Given the description of an element on the screen output the (x, y) to click on. 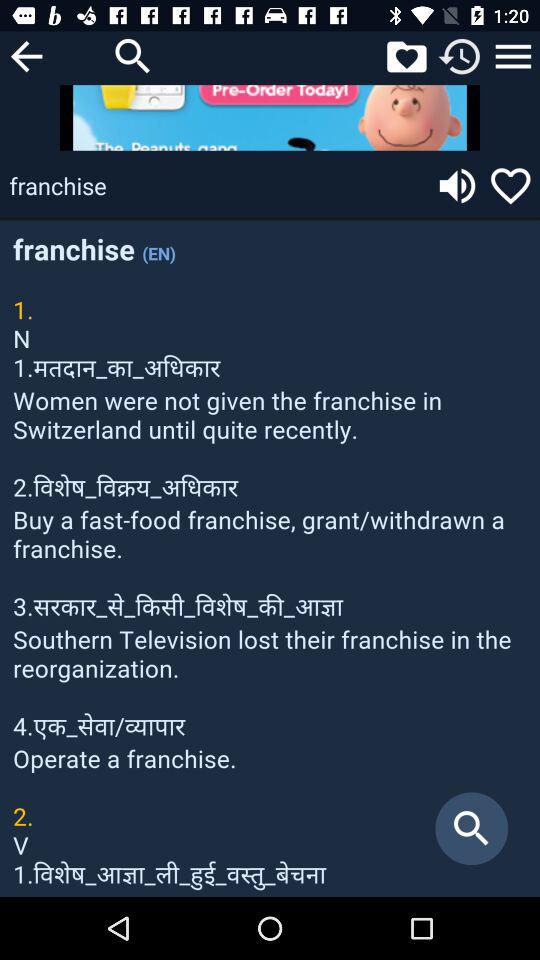
settings (513, 56)
